Given the description of an element on the screen output the (x, y) to click on. 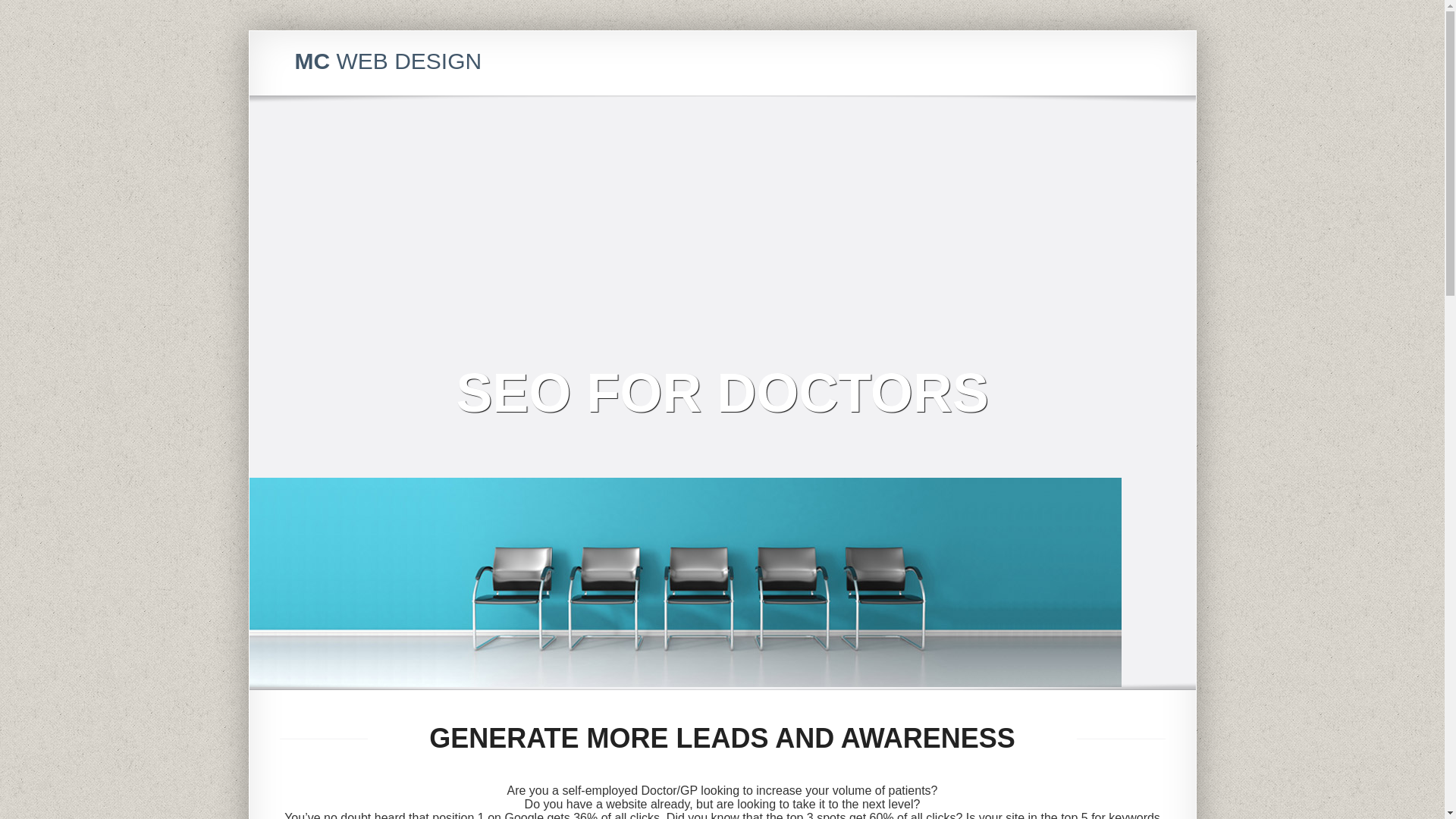
Basic Website Package Element type: text (1076, 286)
Information Systems Element type: text (1038, 359)
Website Hosting Element type: text (1028, 250)
Online Store Website Package Element type: text (1092, 310)
Logo Design Element type: text (1020, 371)
SEO for Doctors Element type: text (1059, 420)
PORTFOLIO Element type: text (994, 444)
Professions Element type: text (1017, 395)
WordPress Management Element type: text (1048, 383)
Search Engine Optimisation Element type: text (1056, 238)
Medium Website Package Element type: text (1081, 298)
SEO for Surgeons Element type: text (1063, 407)
QUOTE CALCULATOR Element type: text (1023, 136)
SERVICES Element type: text (990, 164)
FAQ Element type: text (1000, 189)
Content Management Systems Element type: text (1062, 347)
Website Quote Calculator Element type: text (1050, 213)
Digital Marketing Melbourne Element type: text (1056, 225)
Responsive Websites Element type: text (1041, 262)
CONTACT Element type: text (988, 458)
Basic Website Subscription Element type: text (1084, 322)
BLOG Element type: text (976, 150)
Services overview Element type: text (1033, 177)
ABOUT US Element type: text (991, 123)
Websites For Tradies Element type: text (1070, 335)
Website Design Element type: text (1027, 274)
HOME Element type: text (978, 109)
MC WEB DESIGN Element type: text (387, 60)
Testimonials Element type: text (1019, 432)
